Given the description of an element on the screen output the (x, y) to click on. 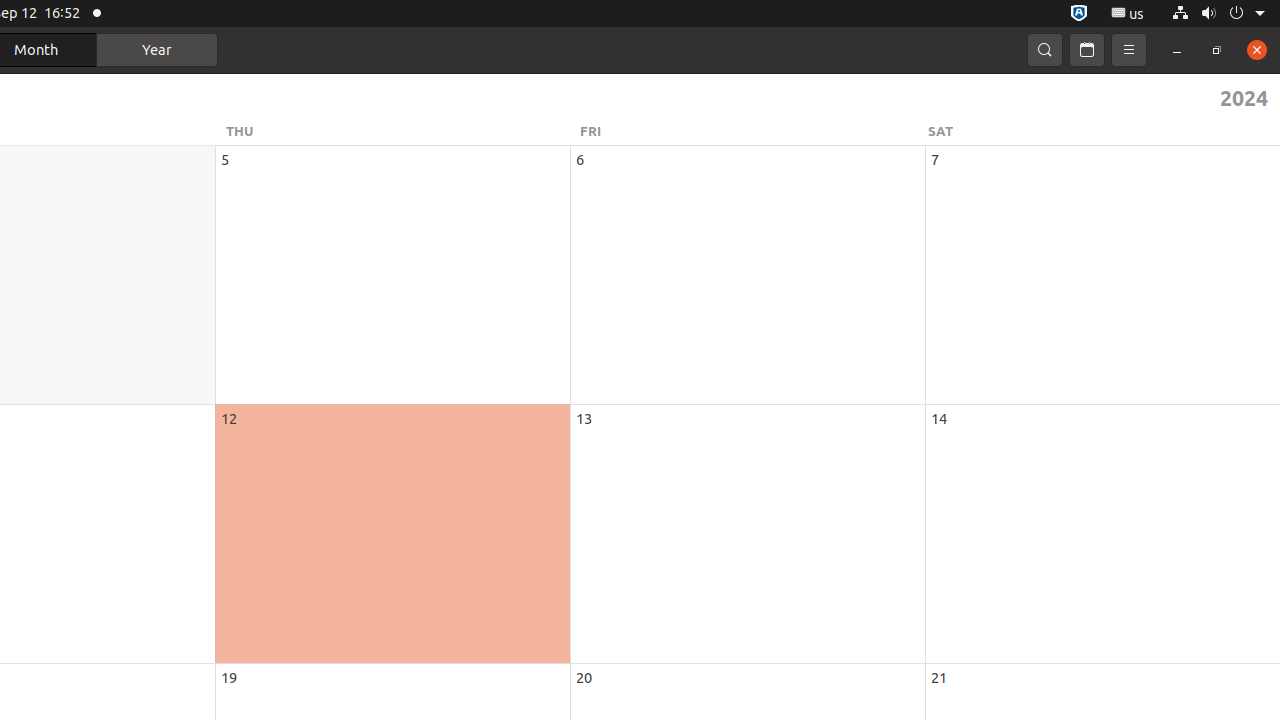
2024 Element type: label (673, 98)
7 Element type: label (935, 159)
13 Element type: label (584, 418)
